Given the description of an element on the screen output the (x, y) to click on. 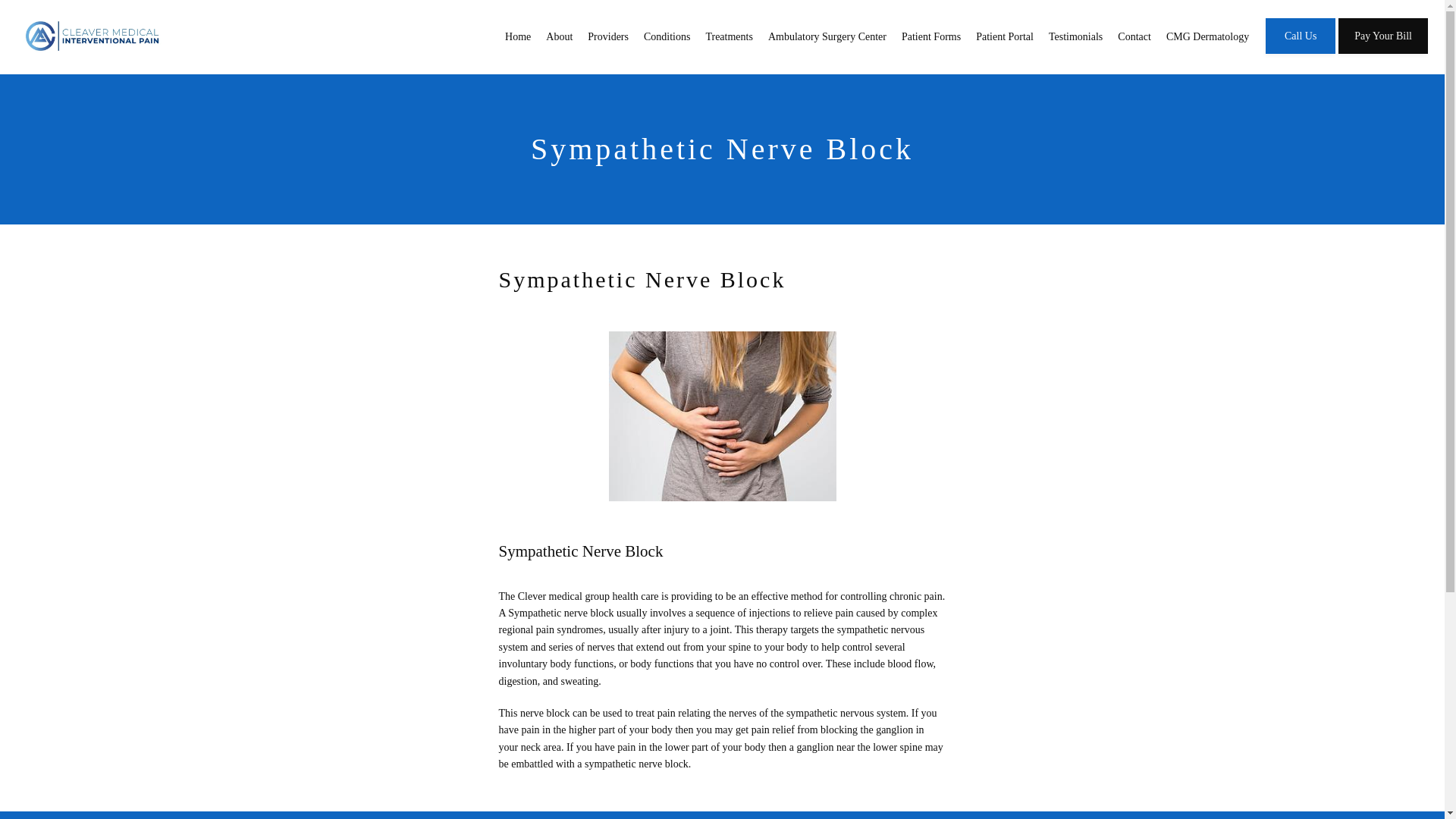
Providers (608, 36)
Testimonials (1075, 36)
Ambulatory Surgery Center (827, 36)
Contact (1134, 36)
About (559, 36)
Patient Forms (930, 36)
Pay Your Bill (1382, 51)
CMG Dermatology (1207, 36)
Call Us (1299, 51)
Patient Portal (1004, 36)
Home (518, 36)
